Given the description of an element on the screen output the (x, y) to click on. 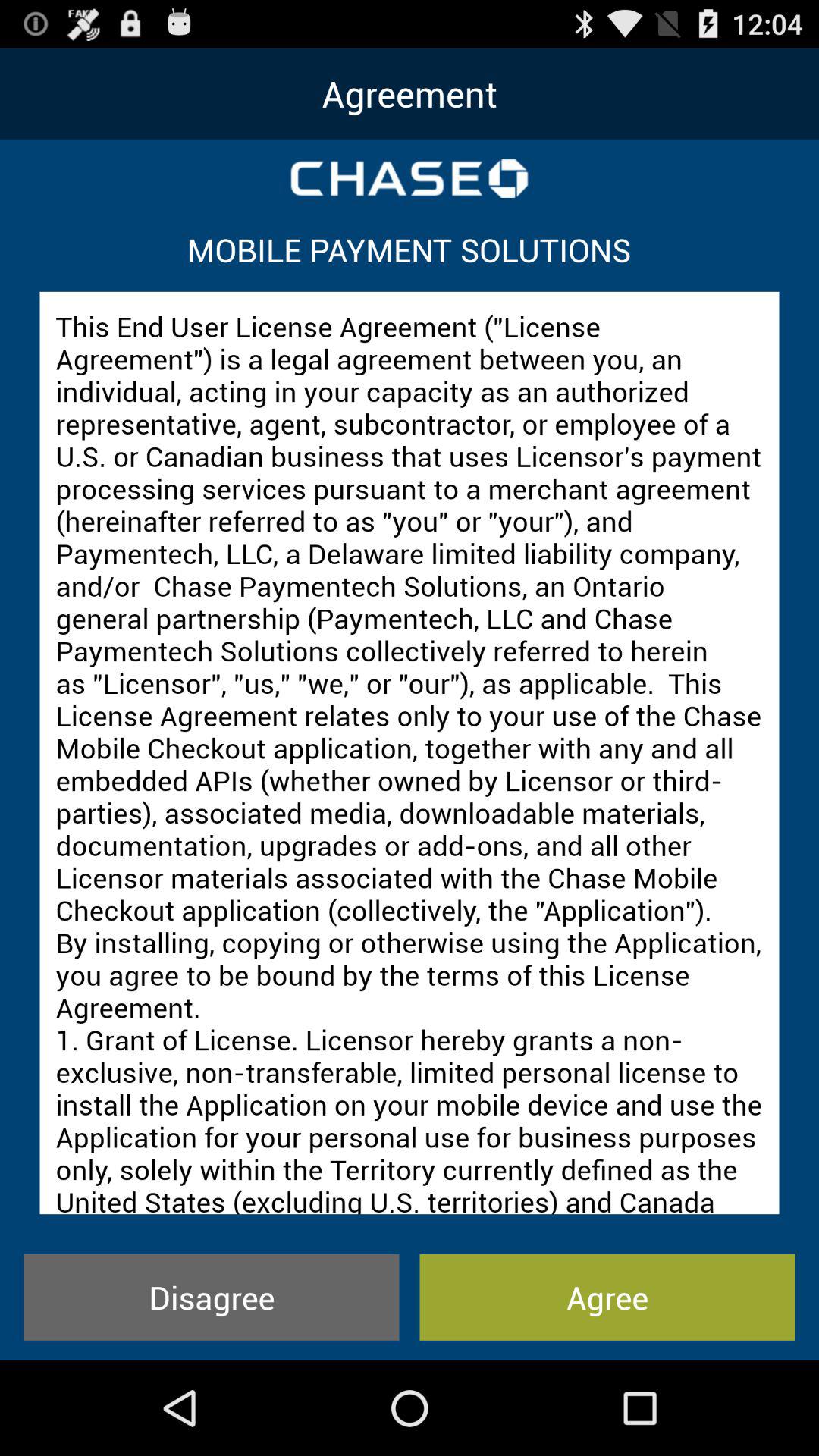
press icon at the bottom left corner (211, 1297)
